Given the description of an element on the screen output the (x, y) to click on. 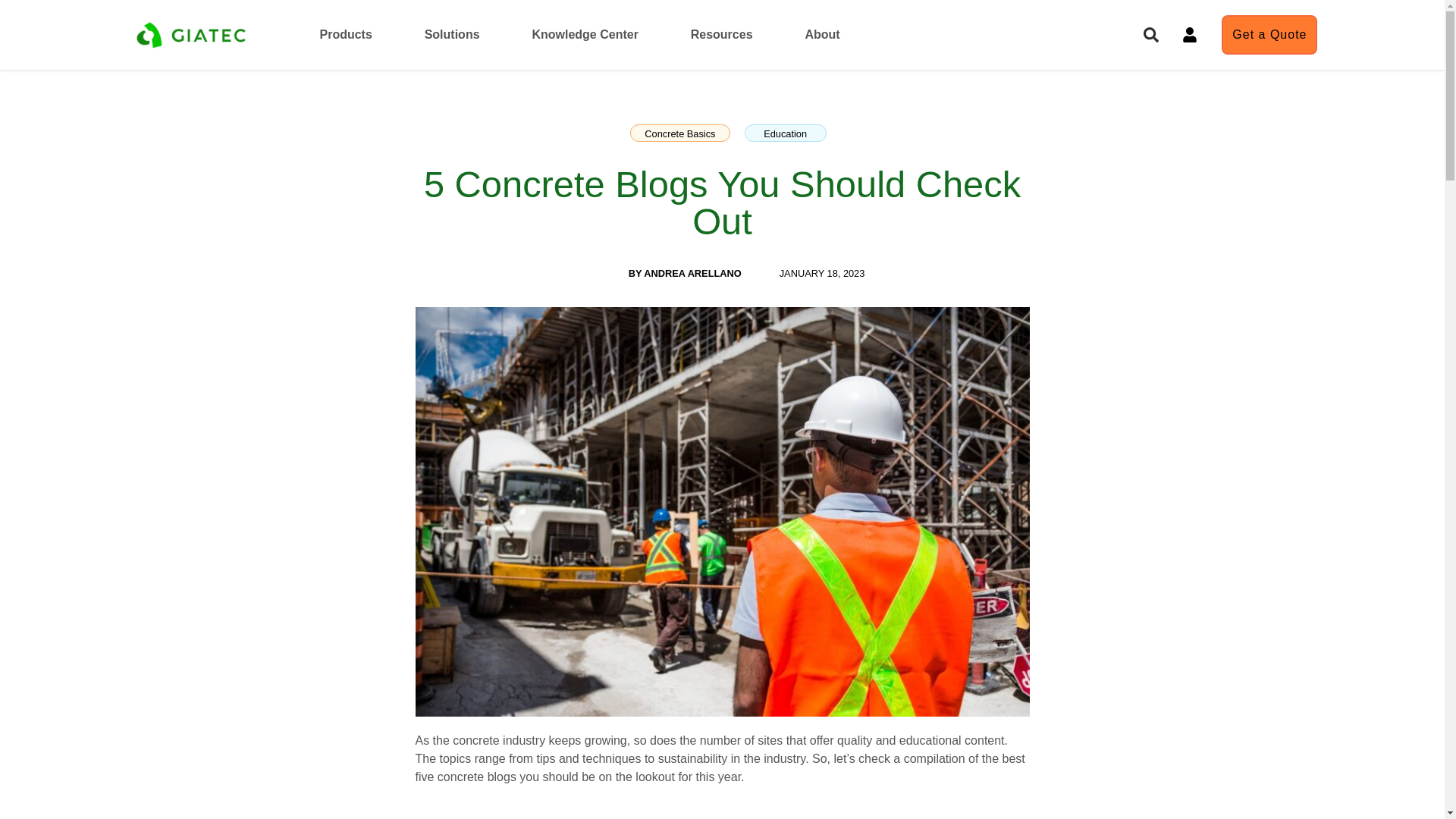
Resources (721, 34)
Knowledge Center (584, 34)
